Given the description of an element on the screen output the (x, y) to click on. 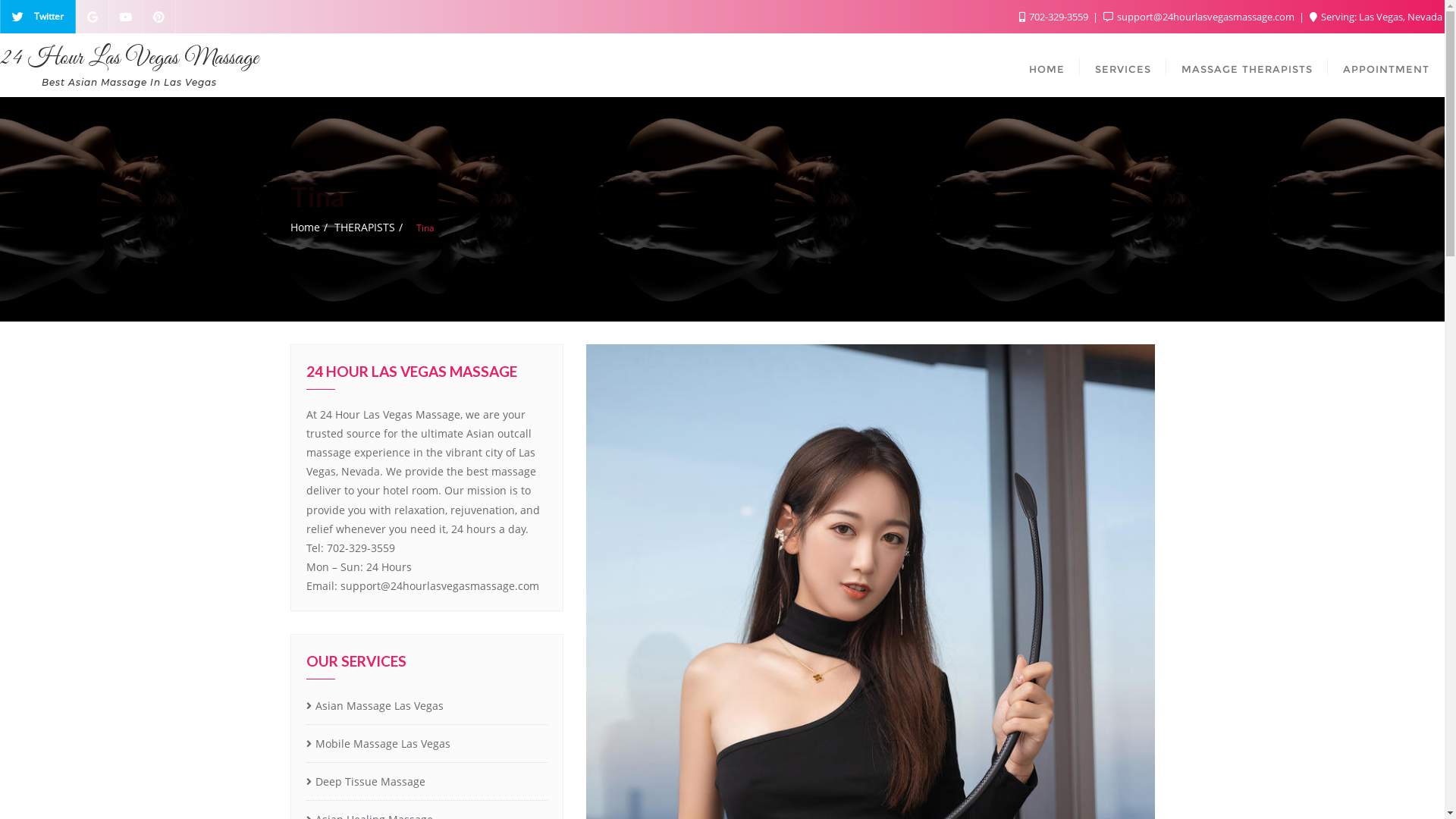
702-329-3559 Element type: text (1054, 16)
HOME Element type: text (1046, 65)
Mobile Massage Las Vegas Element type: text (426, 744)
Asian Massage Las Vegas Element type: text (426, 706)
support@24hourlasvegasmassage.com Element type: text (1199, 16)
Home Element type: text (304, 226)
24 Hour Las Vegas Massage
Best Asian Massage In Las Vegas Element type: text (129, 65)
SERVICES Element type: text (1122, 65)
APPOINTMENT Element type: text (1385, 65)
Deep Tissue Massage Element type: text (426, 781)
THERAPISTS Element type: text (363, 226)
Twitter Element type: text (37, 16)
MASSAGE THERAPISTS Element type: text (1246, 65)
